Given the description of an element on the screen output the (x, y) to click on. 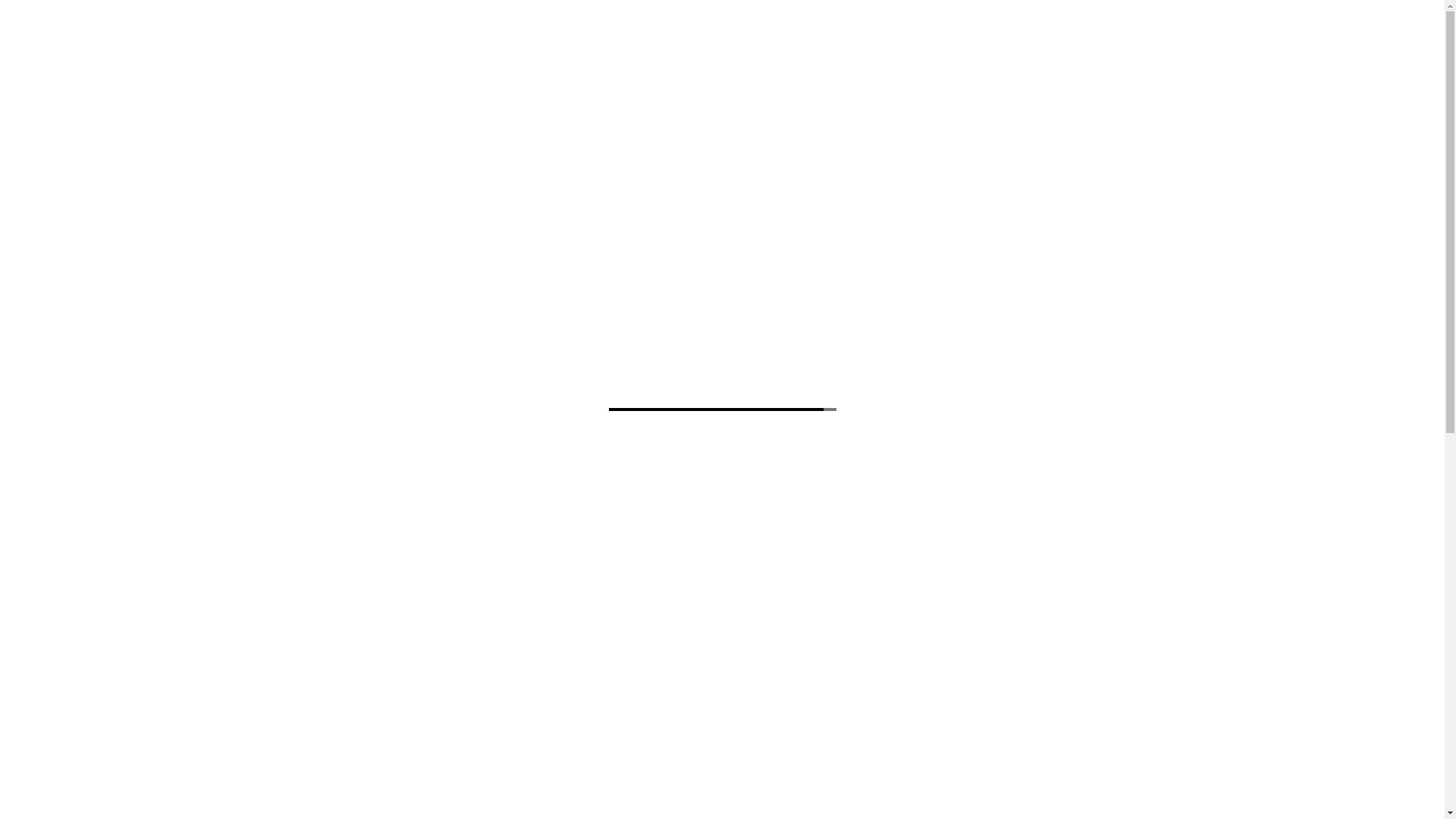
GIFT BOXES Element type: text (337, 158)
0 Element type: text (1142, 157)
ABOUT US Element type: text (692, 158)
ANNABEL TRENDS Element type: text (871, 384)
Home Element type: text (302, 229)
Baby Element type: text (344, 229)
CORPORATE GIFTING Element type: text (587, 158)
CONTACT US Element type: text (835, 158)
BLOG Element type: text (760, 158)
DETAILS Element type: text (990, 502)
BUILD YOUR OWN BOX Element type: text (454, 158)
BUILD INTO YOUR OWN BOX Element type: text (990, 439)
